Given the description of an element on the screen output the (x, y) to click on. 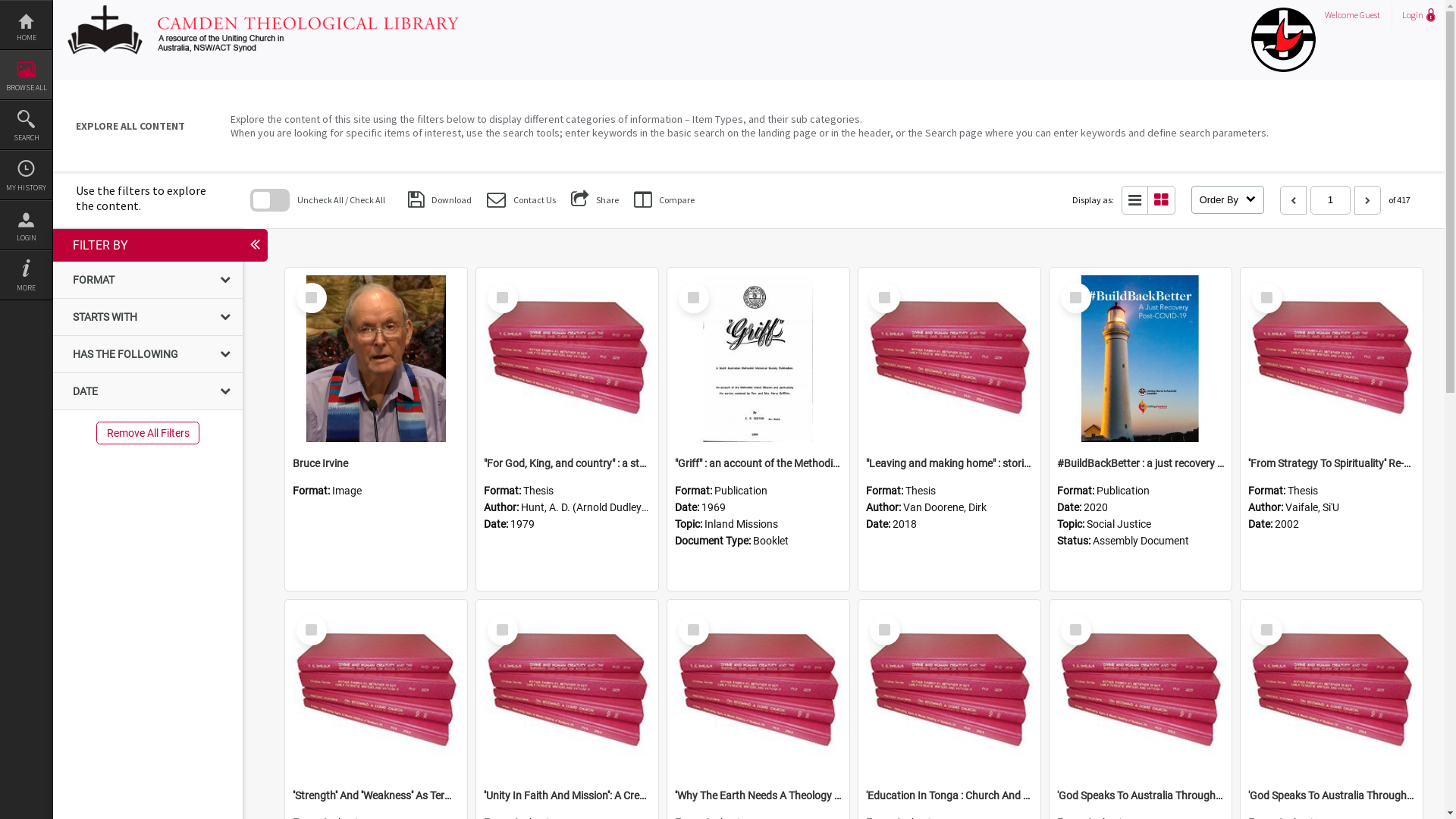
MY HISTORY Element type: text (26, 174)
BROWSE ALL Element type: text (26, 74)
 Bruce Irvine Element type: hover (375, 358)
MORE Element type: text (26, 275)
Order By Element type: text (1227, 199)
Skip to search block Element type: text (52, 199)
HOME Element type: text (26, 24)
#BuildBackBetter : a just recovery post-COVID-19 Element type: text (1140, 463)
#BuildBackBetter : a just recovery post-COVID-19 Element type: hover (1140, 358)
Login Element type: text (1416, 15)
Guest Element type: text (1369, 14)
Bruce Irvine Element type: text (375, 463)
SEARCH Element type: text (26, 124)
LOGIN Element type: text (26, 224)
